Given the description of an element on the screen output the (x, y) to click on. 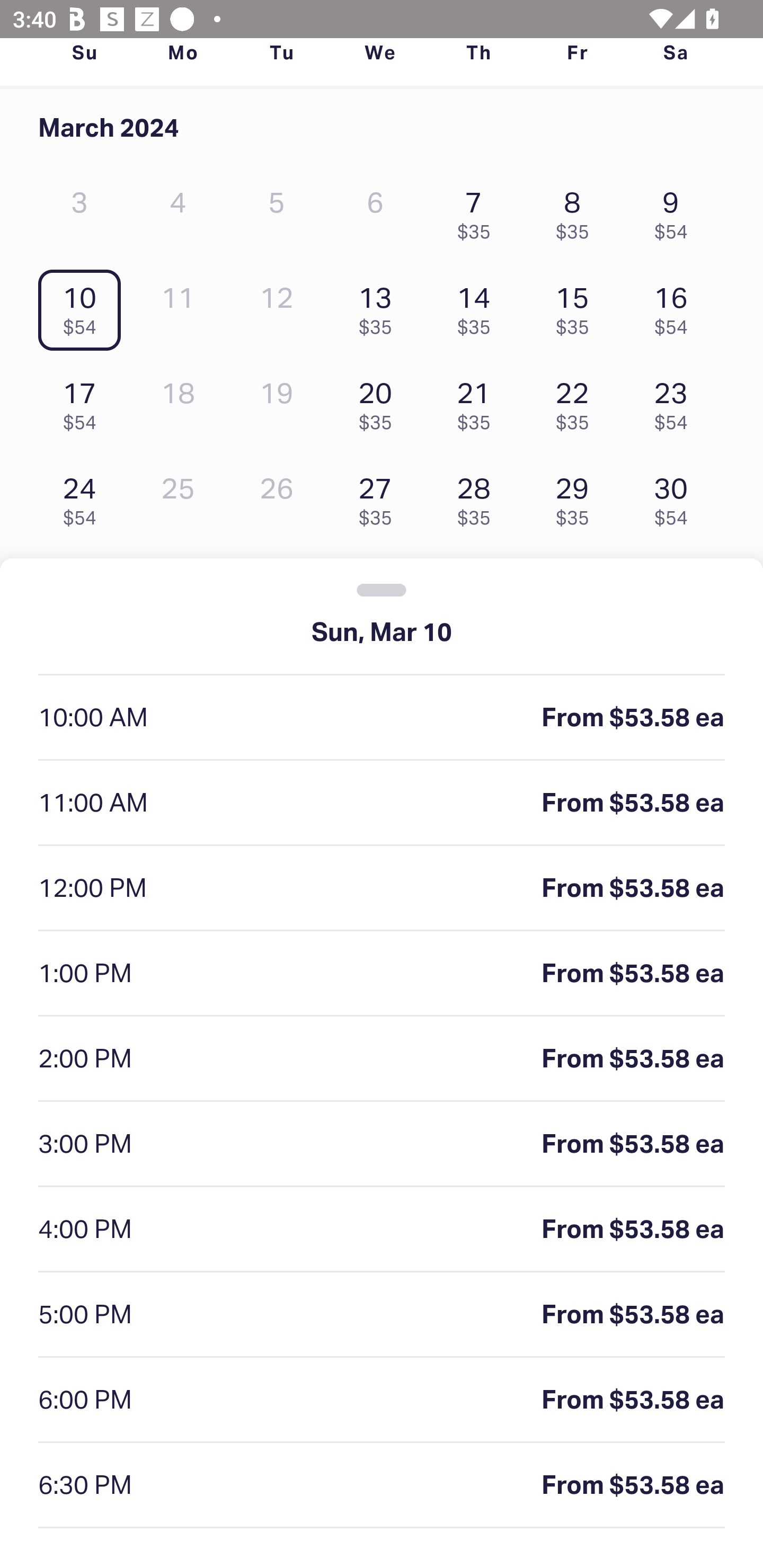
7 $35 (478, 210)
8 $35 (577, 210)
9 $54 (675, 210)
10 $54 (84, 306)
13 $35 (379, 306)
14 $35 (478, 306)
15 $35 (577, 306)
16 $54 (675, 306)
17 $54 (84, 401)
20 $35 (379, 401)
21 $35 (478, 401)
22 $35 (577, 401)
23 $54 (675, 401)
24 $54 (84, 496)
27 $35 (379, 496)
28 $35 (478, 496)
29 $35 (577, 496)
30 $54 (675, 496)
10:00 AM From $53.58 ea (381, 717)
11:00 AM From $53.58 ea (381, 803)
12:00 PM From $53.58 ea (381, 888)
1:00 PM From $53.58 ea (381, 973)
2:00 PM From $53.58 ea (381, 1059)
3:00 PM From $53.58 ea (381, 1144)
4:00 PM From $53.58 ea (381, 1228)
5:00 PM From $53.58 ea (381, 1314)
6:00 PM From $53.58 ea (381, 1399)
6:30 PM From $53.58 ea (381, 1485)
